Given the description of an element on the screen output the (x, y) to click on. 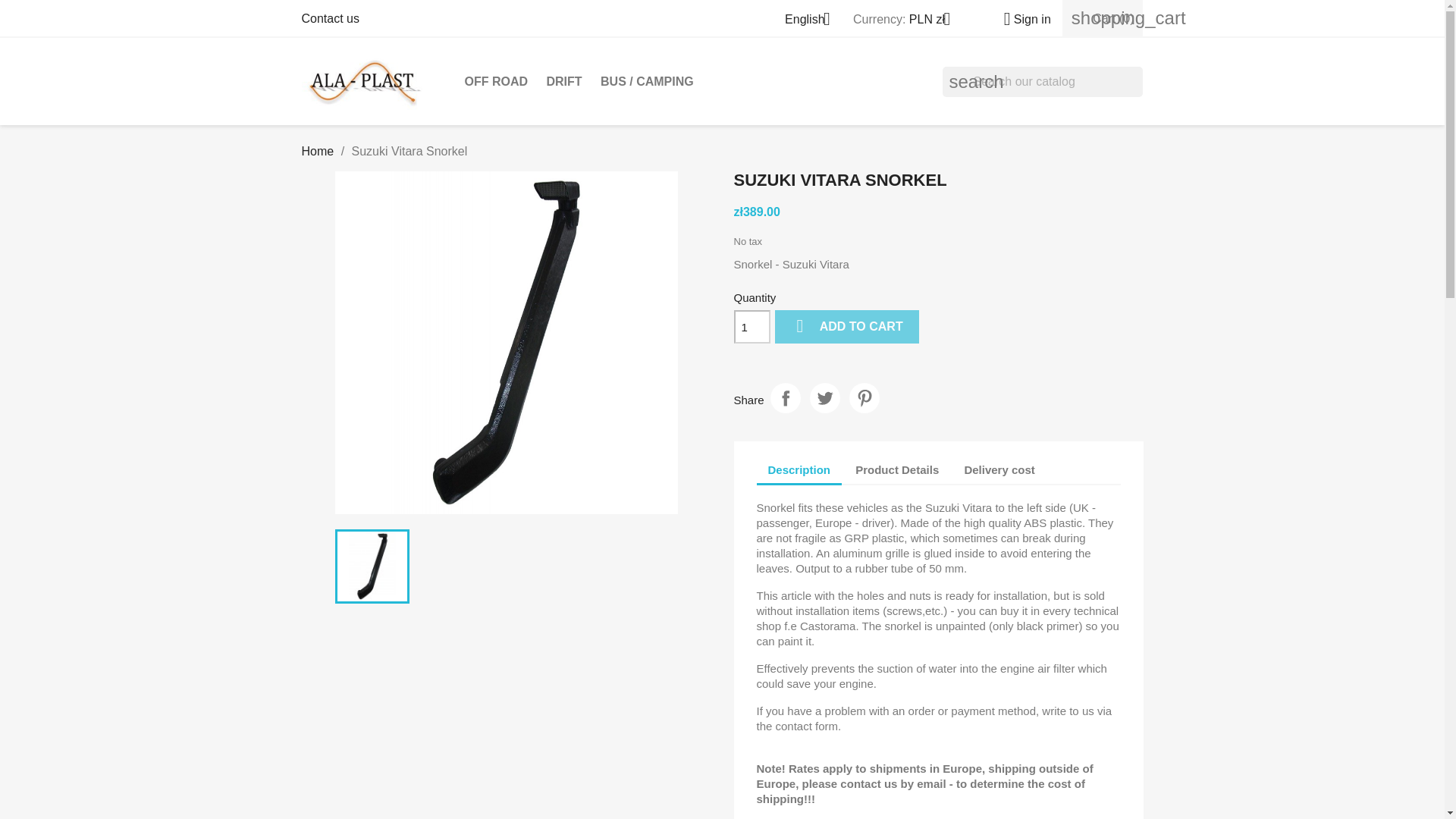
Pinterest (863, 398)
Delivery cost (998, 469)
Share (785, 398)
OFF ROAD (496, 81)
Description (800, 470)
Contact us (330, 18)
Home (317, 151)
1 (751, 326)
Tweet (824, 398)
Tweet (824, 398)
